Given the description of an element on the screen output the (x, y) to click on. 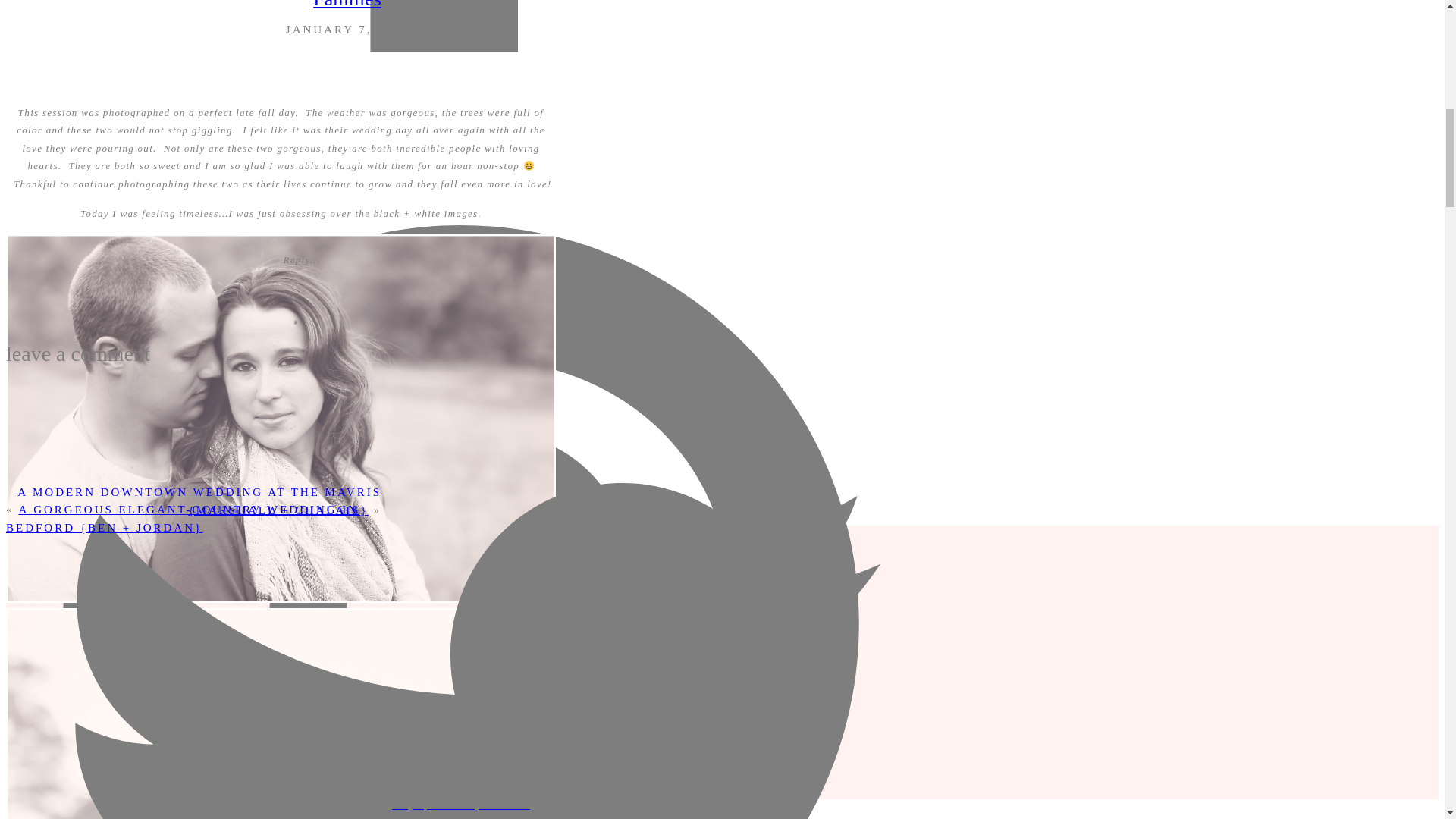
Design by Jessica Gingrich Creative (460, 806)
Families (347, 4)
